Given the description of an element on the screen output the (x, y) to click on. 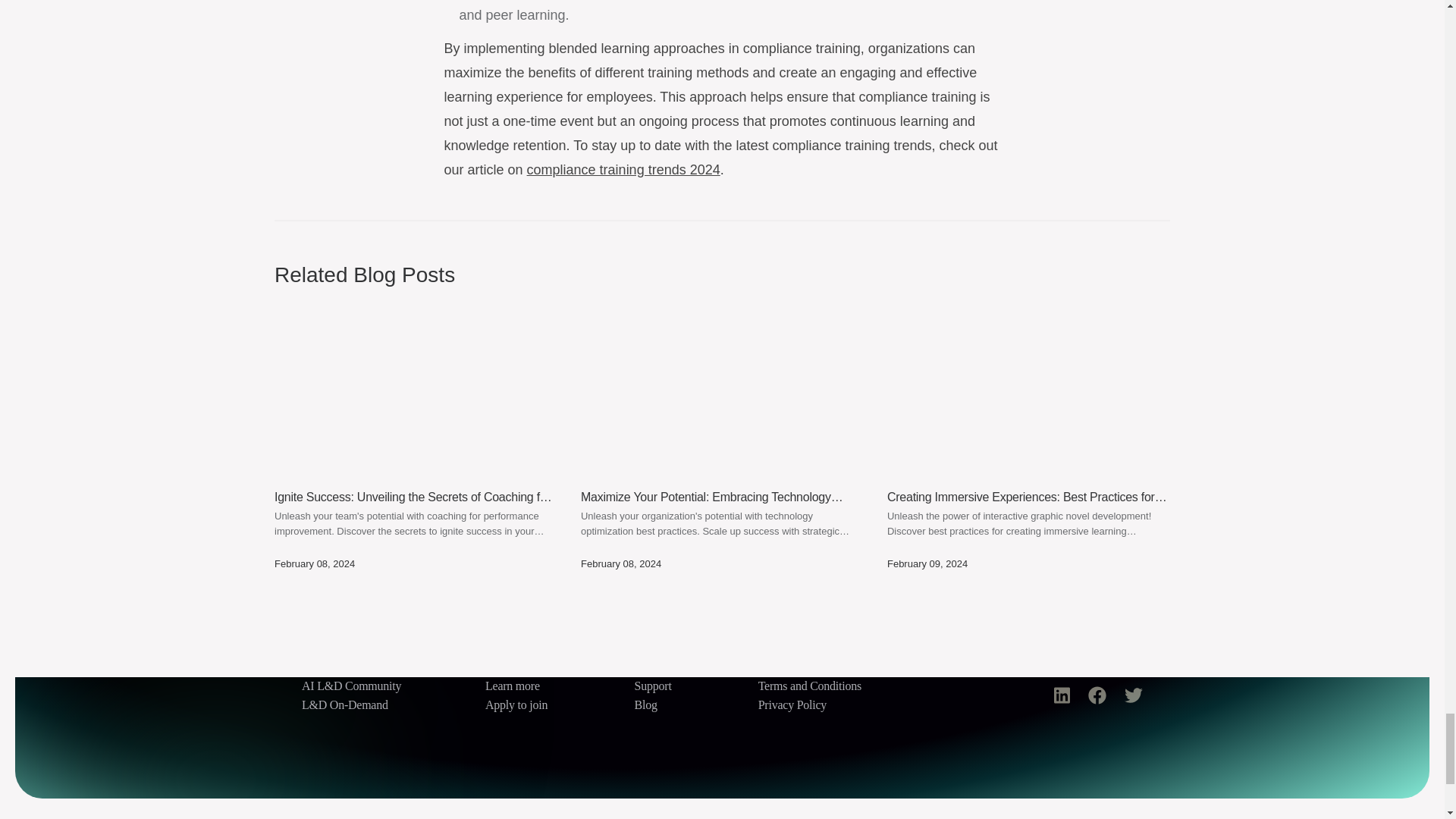
compliance training trends 2024 (623, 169)
